Given the description of an element on the screen output the (x, y) to click on. 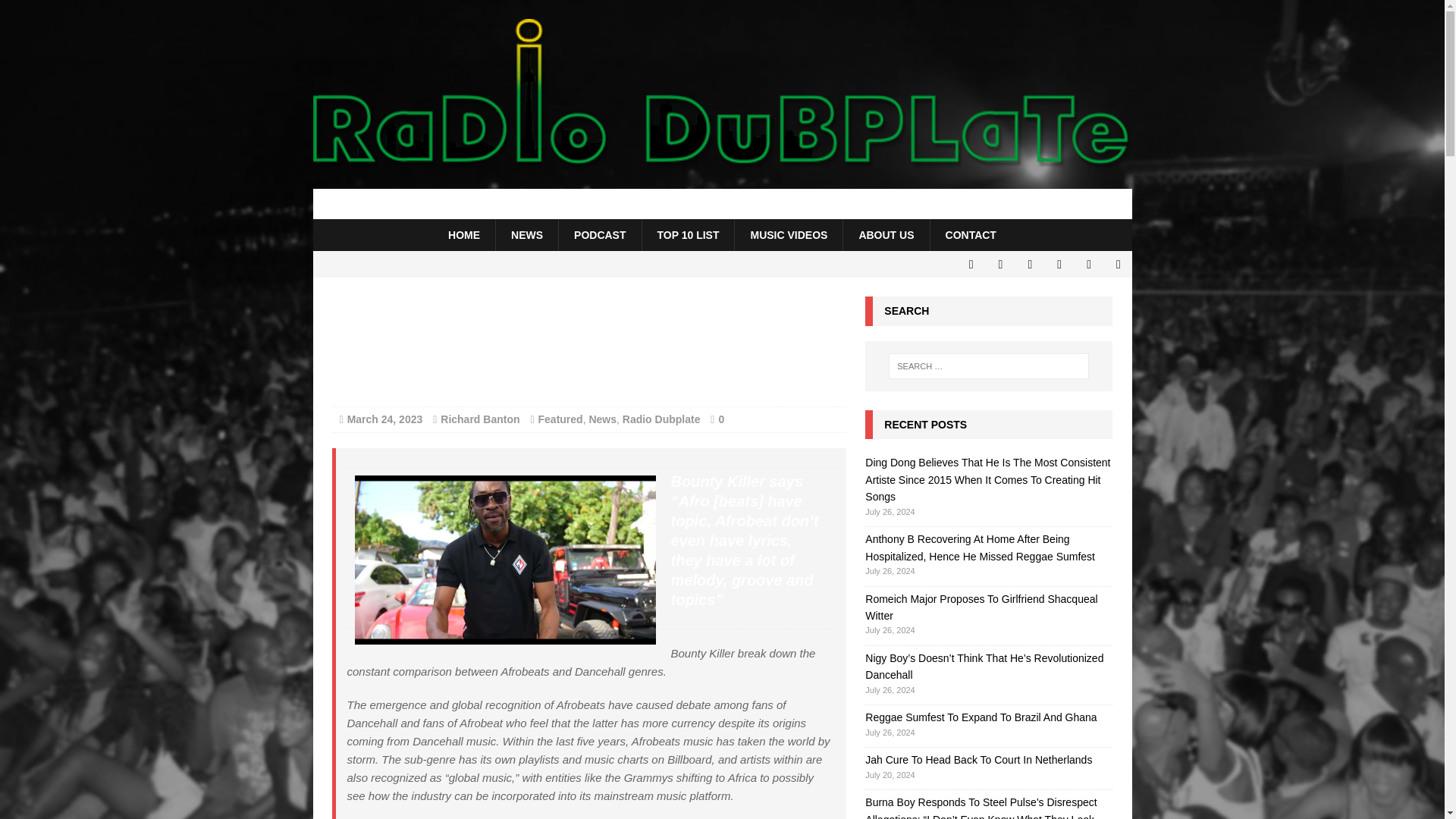
TOP 10 LIST (688, 234)
Radio Dubplate (722, 204)
Richard Banton (480, 419)
March 24, 2023 (385, 419)
News (601, 419)
ABOUT US (885, 234)
HOME (463, 234)
0 (720, 419)
CONTACT (970, 234)
Featured (560, 419)
NEWS (526, 234)
MUSIC VIDEOS (788, 234)
Radio Dubplate (661, 419)
0 (720, 419)
PODCAST (598, 234)
